Given the description of an element on the screen output the (x, y) to click on. 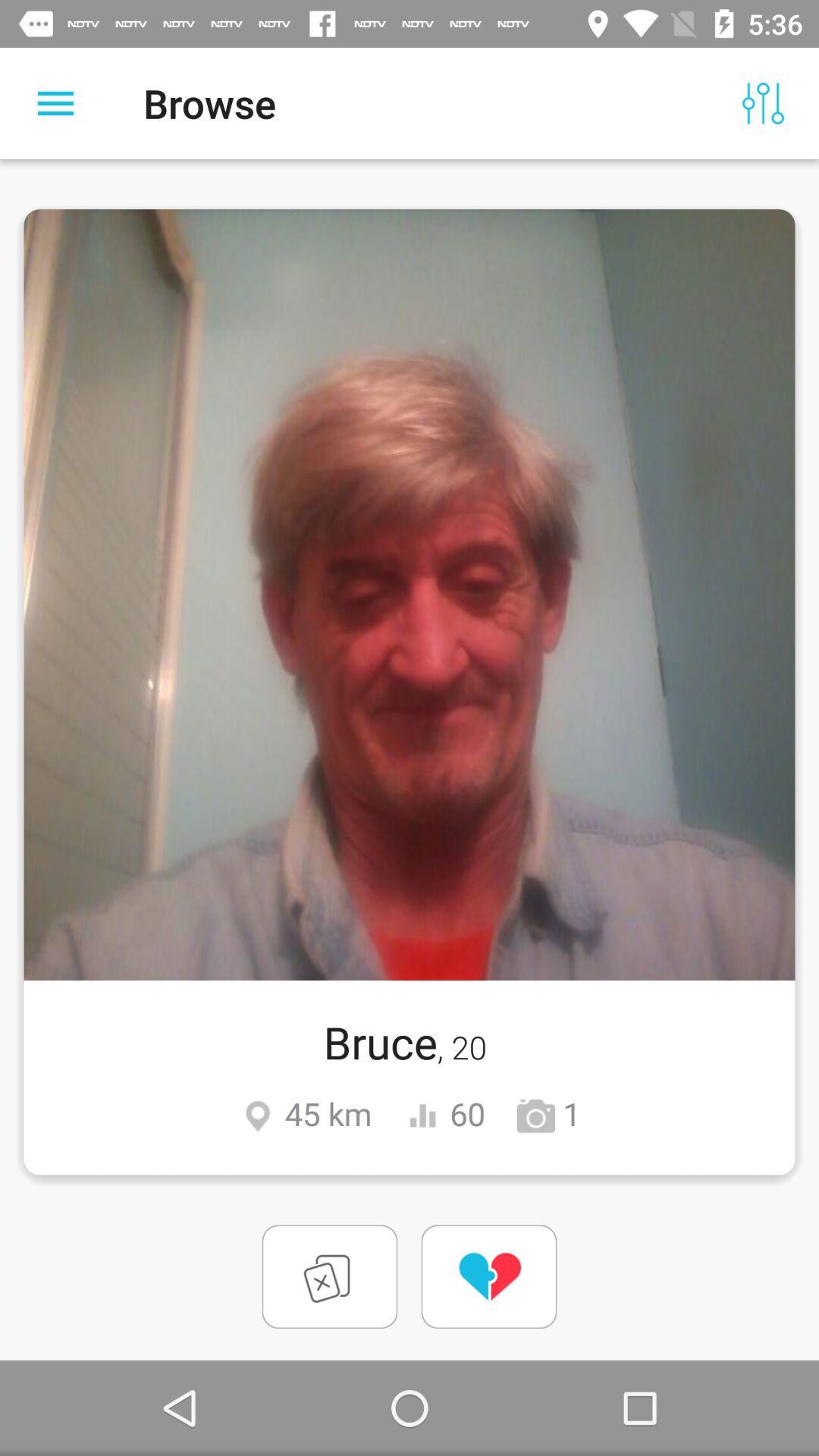
turn on icon next to the browse (763, 103)
